Given the description of an element on the screen output the (x, y) to click on. 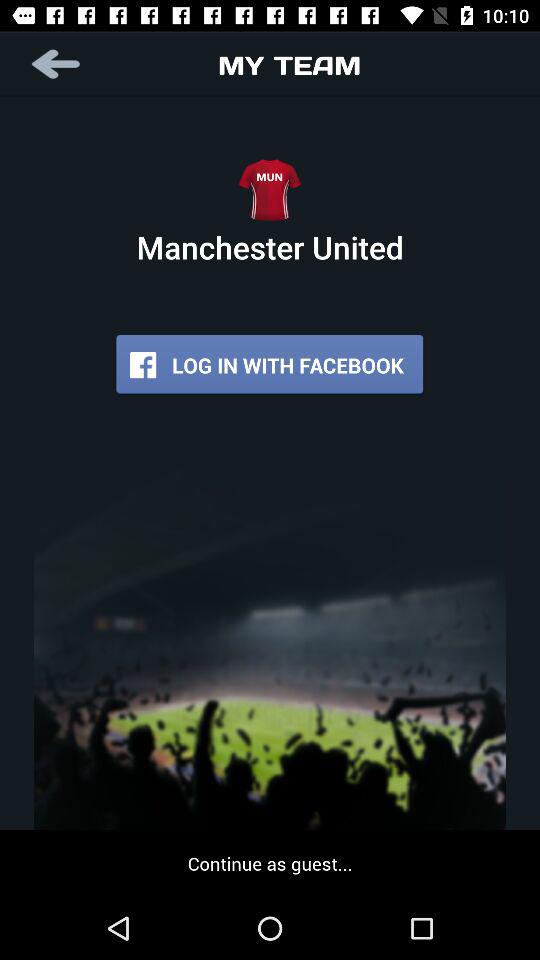
press continue as guest... item (270, 863)
